Given the description of an element on the screen output the (x, y) to click on. 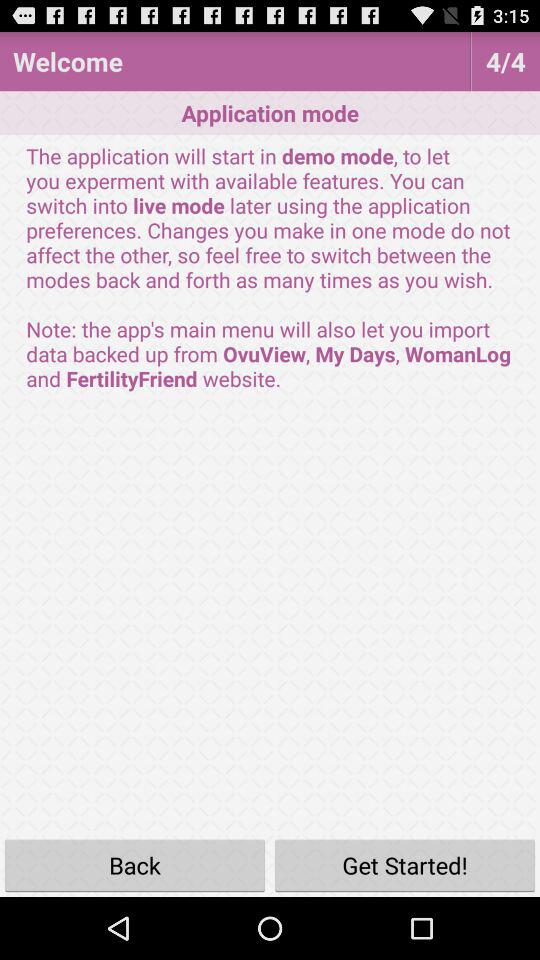
turn on icon to the right of the back button (405, 864)
